Given the description of an element on the screen output the (x, y) to click on. 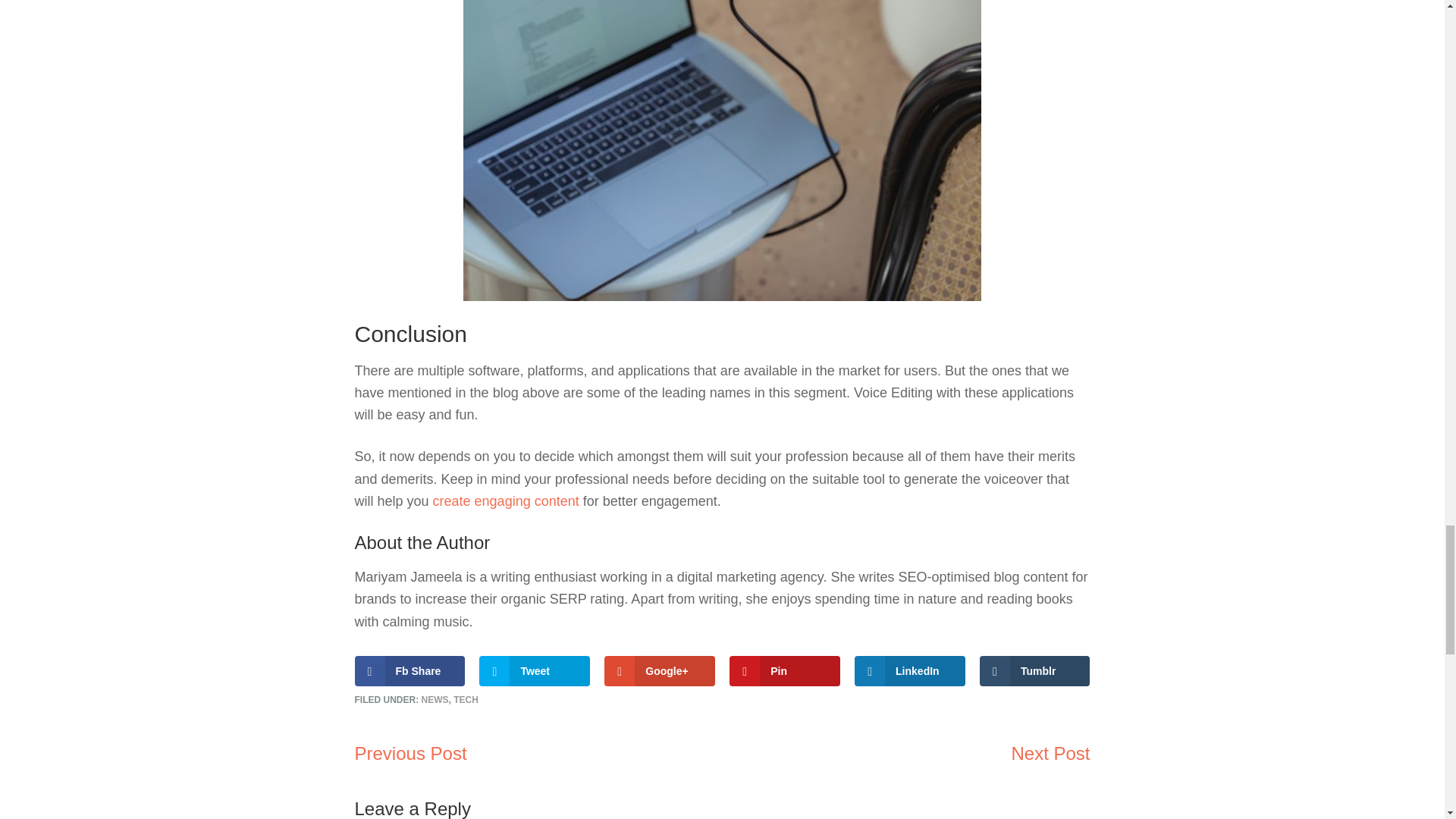
LinkedIn (909, 671)
TECH (465, 699)
Pin (784, 671)
create engaging content (505, 500)
Tumblr (1034, 671)
Previous Post (411, 752)
Tweet (534, 671)
Next Post (1049, 752)
Fb Share (410, 671)
NEWS (435, 699)
